Given the description of an element on the screen output the (x, y) to click on. 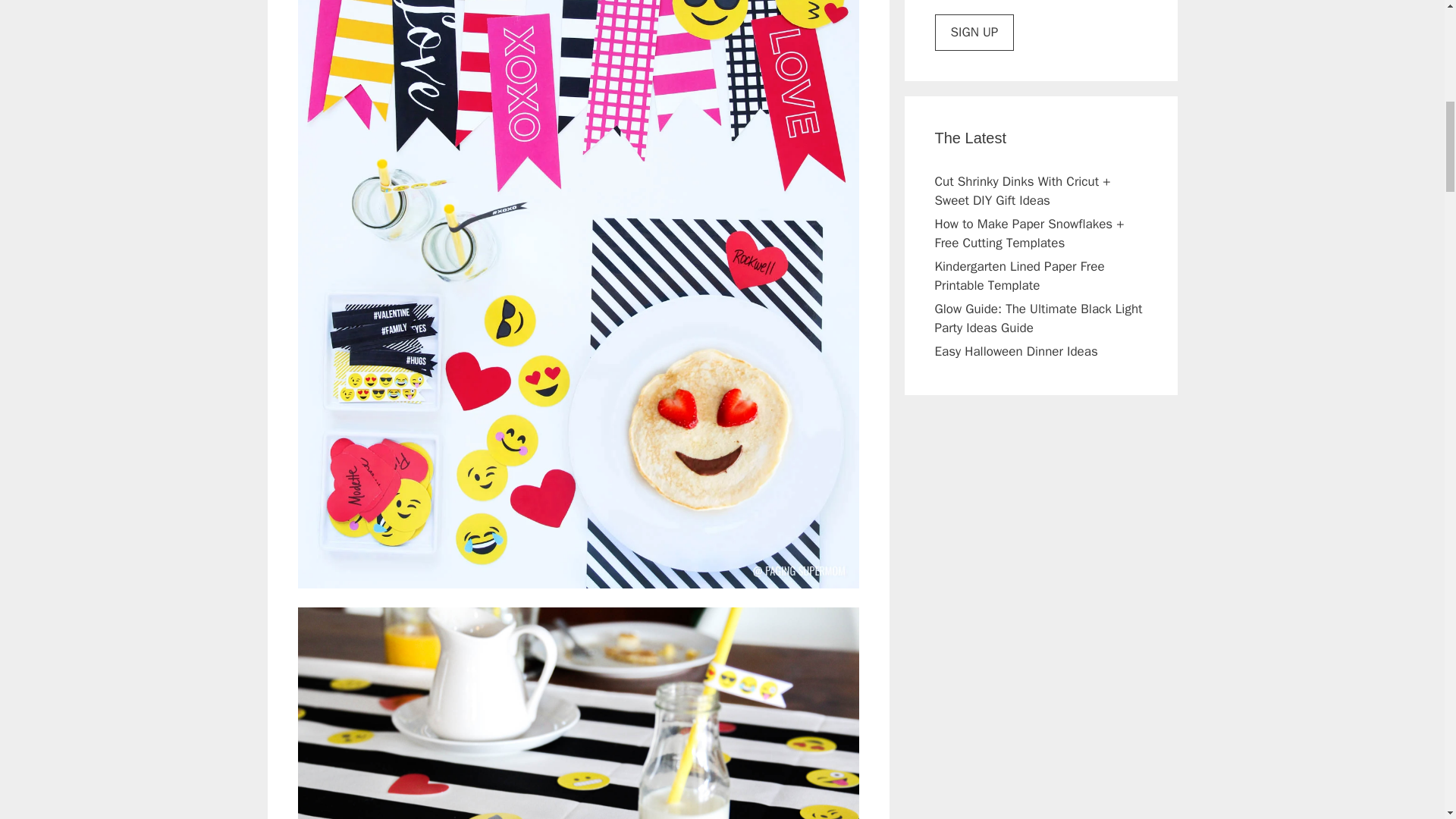
Emoji Valentines Breakfast H (578, 713)
